Given the description of an element on the screen output the (x, y) to click on. 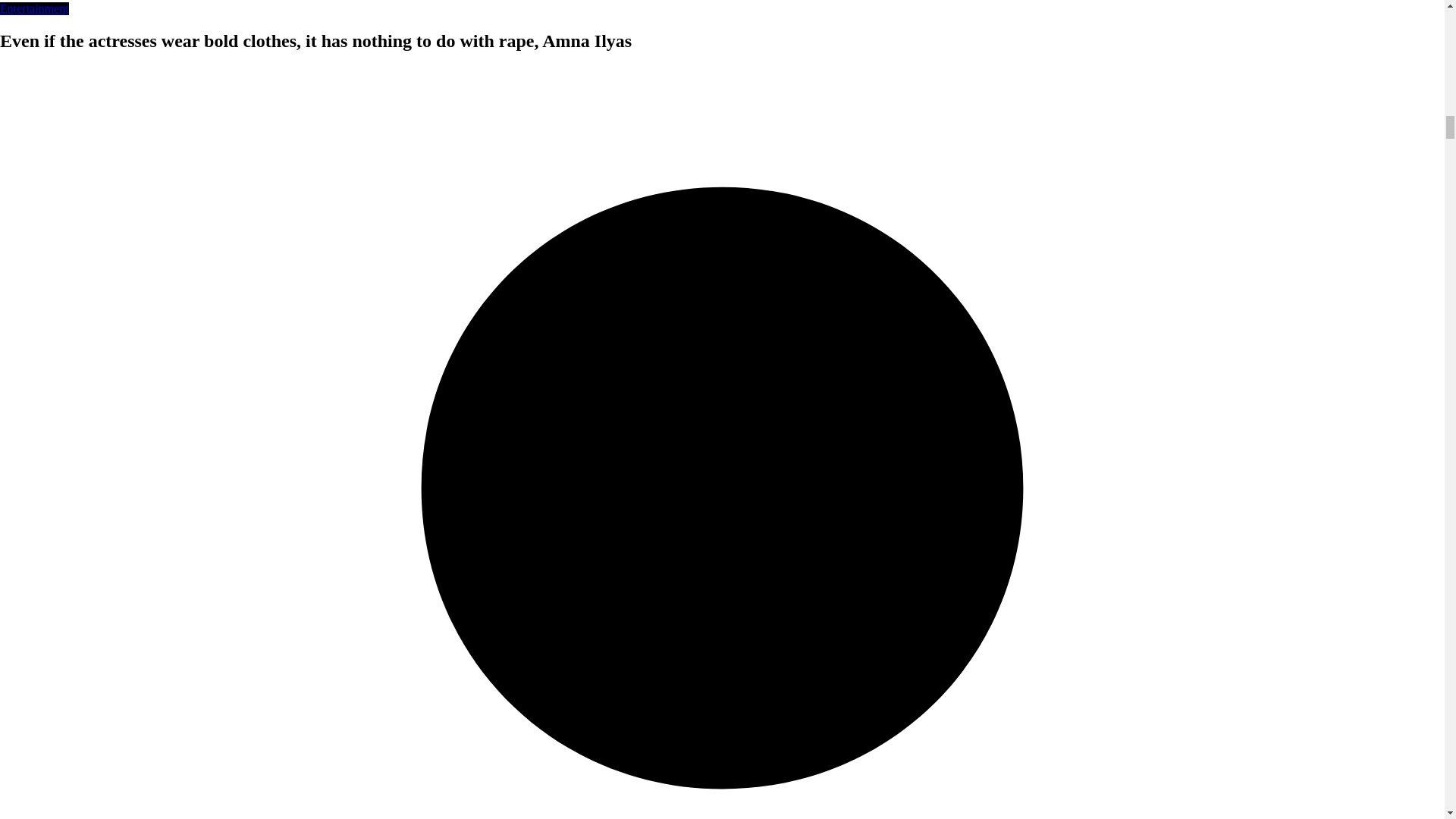
Entertainment (34, 8)
